Given the description of an element on the screen output the (x, y) to click on. 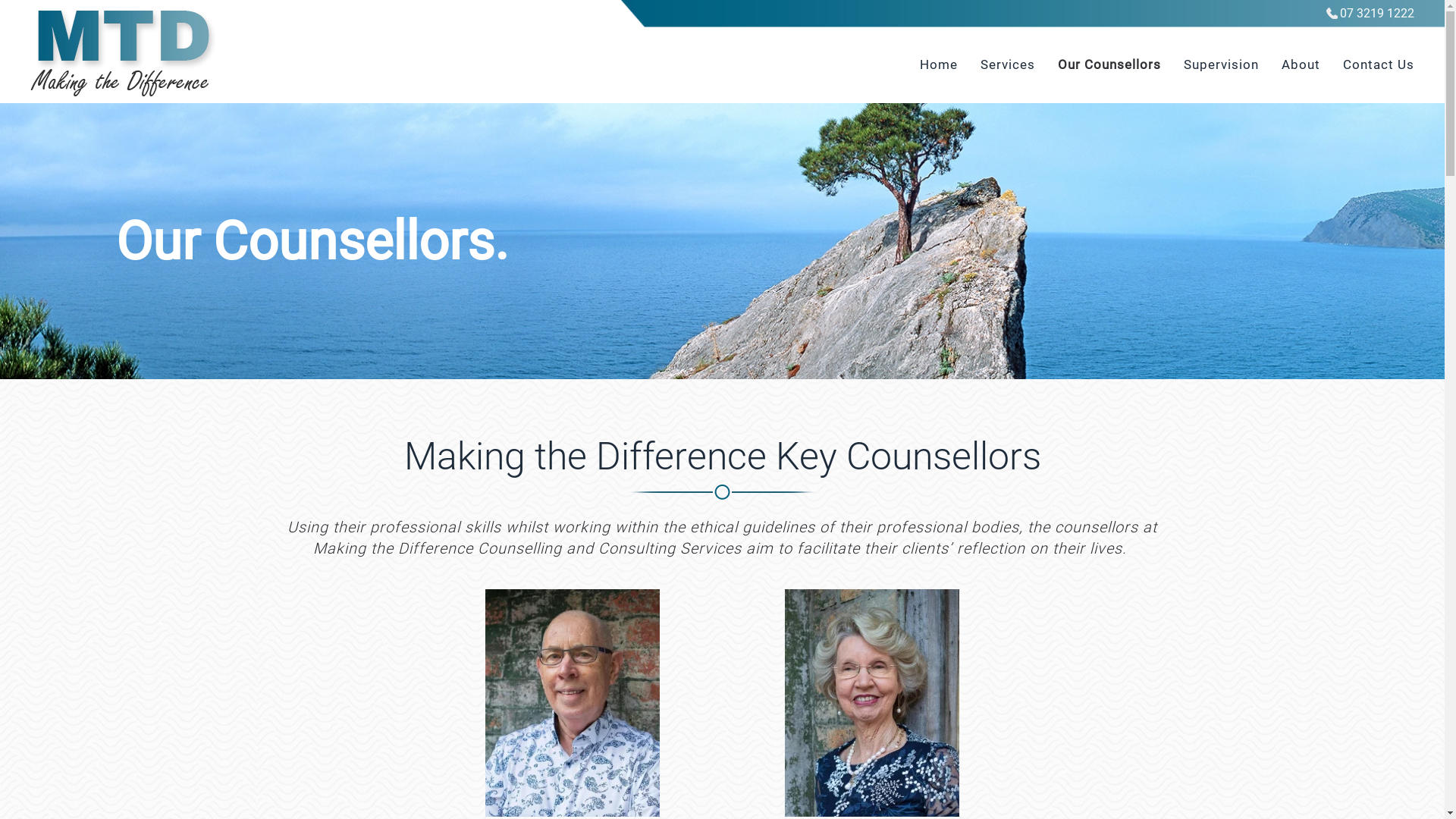
Our Counsellors Element type: text (1109, 65)
07 3219 1222 Element type: text (1370, 13)
Supervision Element type: text (1221, 65)
Home Element type: text (938, 65)
Services Element type: text (1007, 65)
Contact Us Element type: text (1378, 65)
About Element type: text (1300, 65)
